Given the description of an element on the screen output the (x, y) to click on. 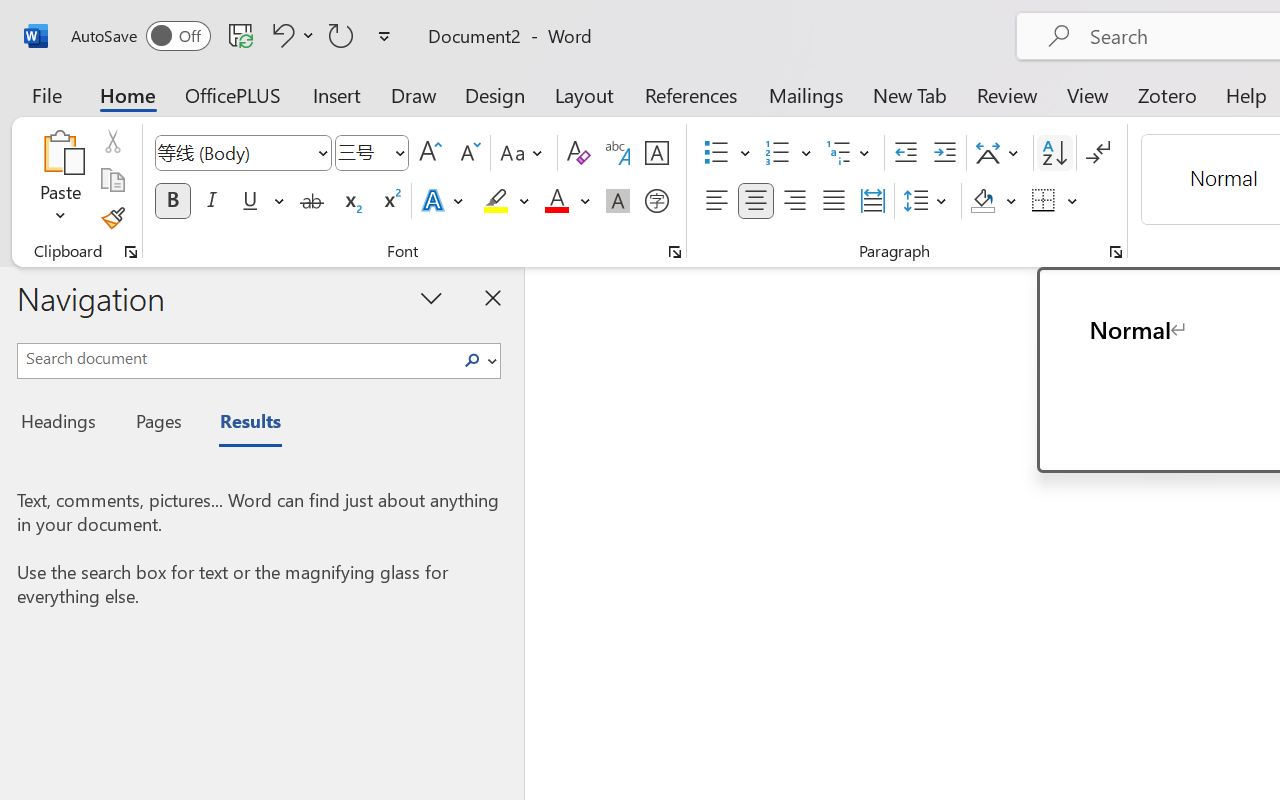
Italic (212, 201)
Font... (675, 252)
Distributed (872, 201)
Repeat Doc Close (341, 35)
Insert (337, 94)
Design (495, 94)
Office Clipboard... (131, 252)
References (690, 94)
Results (240, 424)
Pages (156, 424)
Multilevel List (850, 153)
Customize Quick Access Toolbar (384, 35)
Decrease Indent (906, 153)
Font Color Red (556, 201)
